Given the description of an element on the screen output the (x, y) to click on. 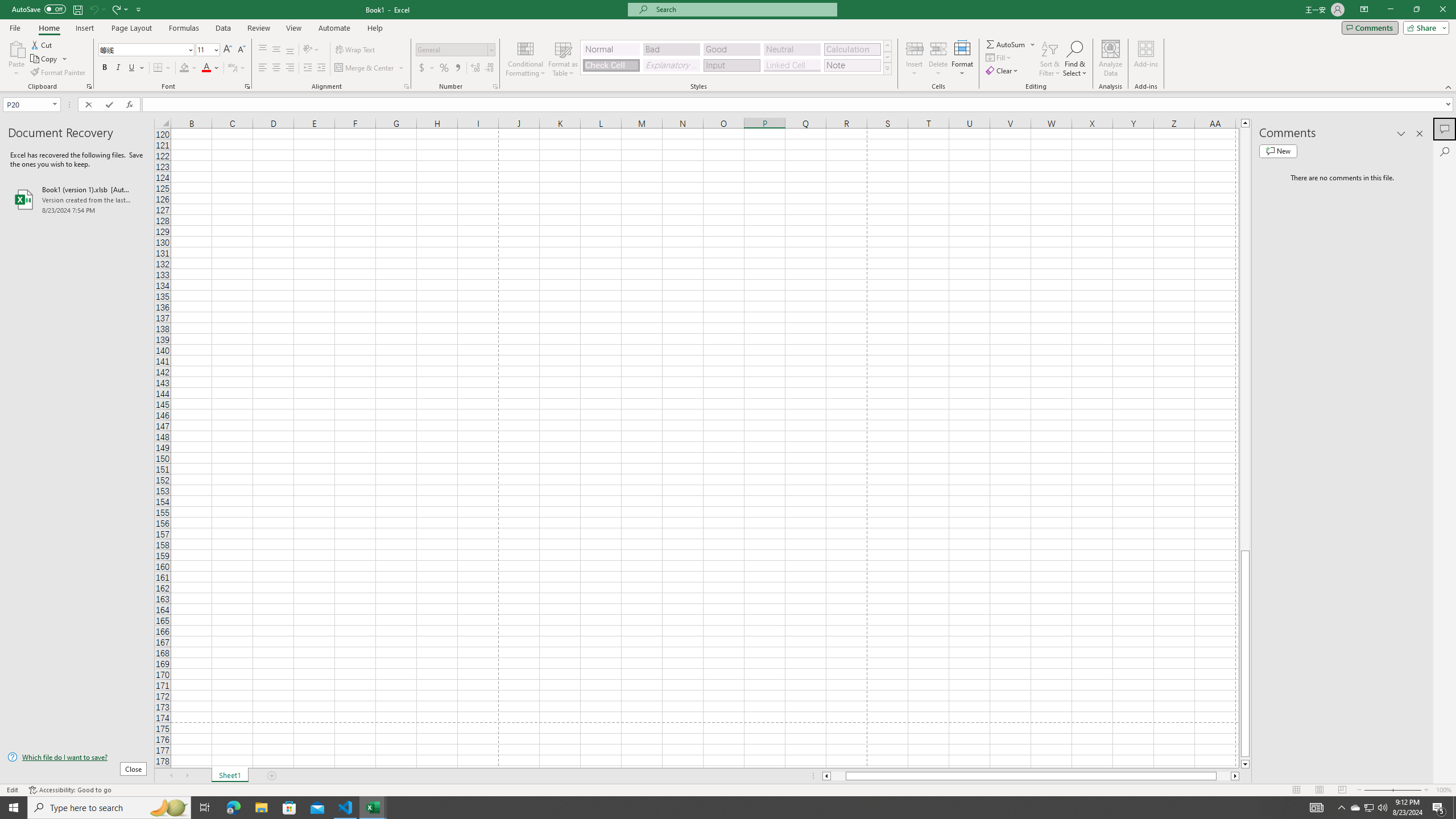
Calculation (852, 49)
Number Format (455, 49)
Bottom Border (157, 67)
Percent Style (443, 67)
Format Painter (58, 72)
Fill Color (188, 67)
Format Cell Alignment (405, 85)
Paste (16, 48)
Delete Cells... (938, 48)
AutomationID: CellStylesGallery (736, 57)
Page up (1245, 338)
Copy (45, 58)
AutoSum (1011, 44)
Copy (49, 58)
